Given the description of an element on the screen output the (x, y) to click on. 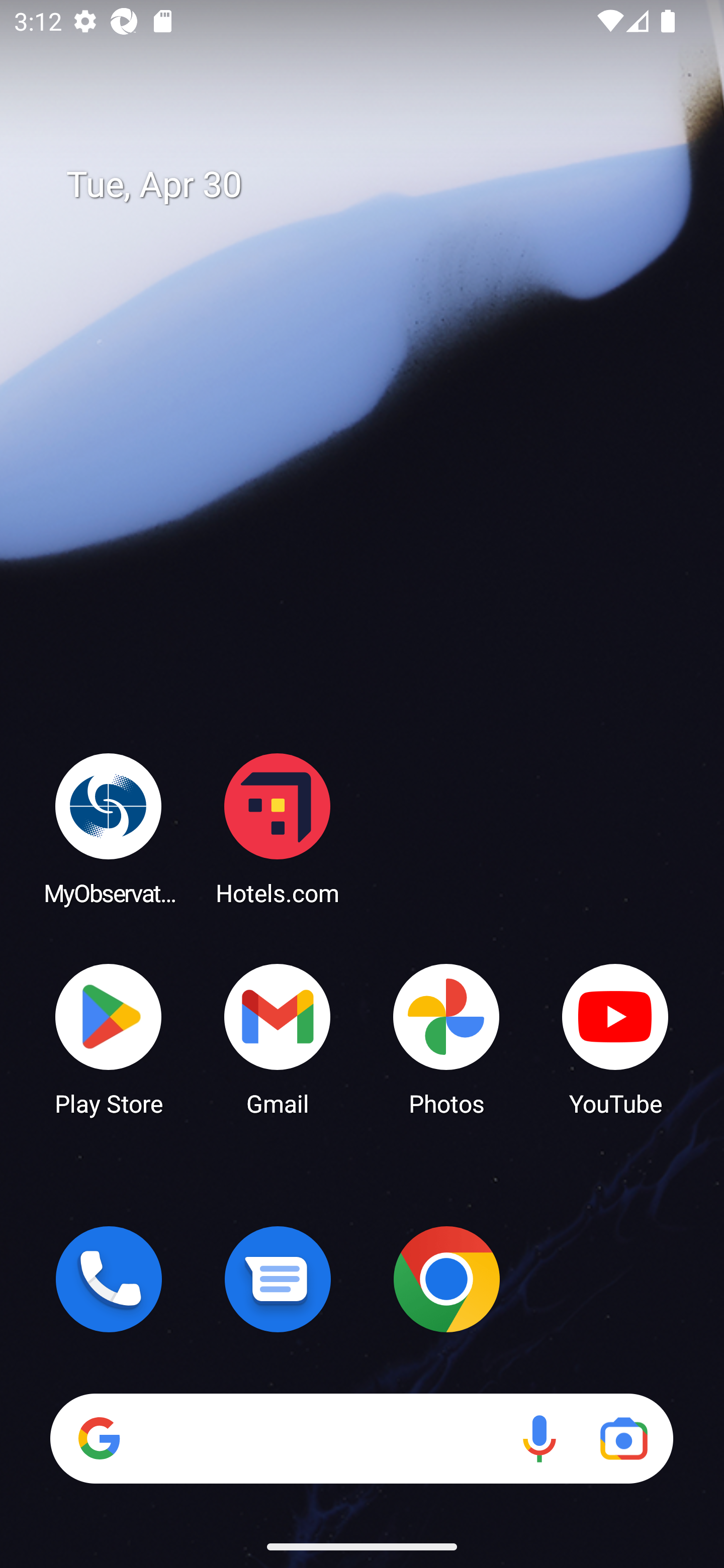
Tue, Apr 30 (375, 184)
MyObservatory (108, 828)
Hotels.com (277, 828)
Play Store (108, 1038)
Gmail (277, 1038)
Photos (445, 1038)
YouTube (615, 1038)
Phone (108, 1279)
Messages (277, 1279)
Chrome (446, 1279)
Voice search (539, 1438)
Google Lens (623, 1438)
